Given the description of an element on the screen output the (x, y) to click on. 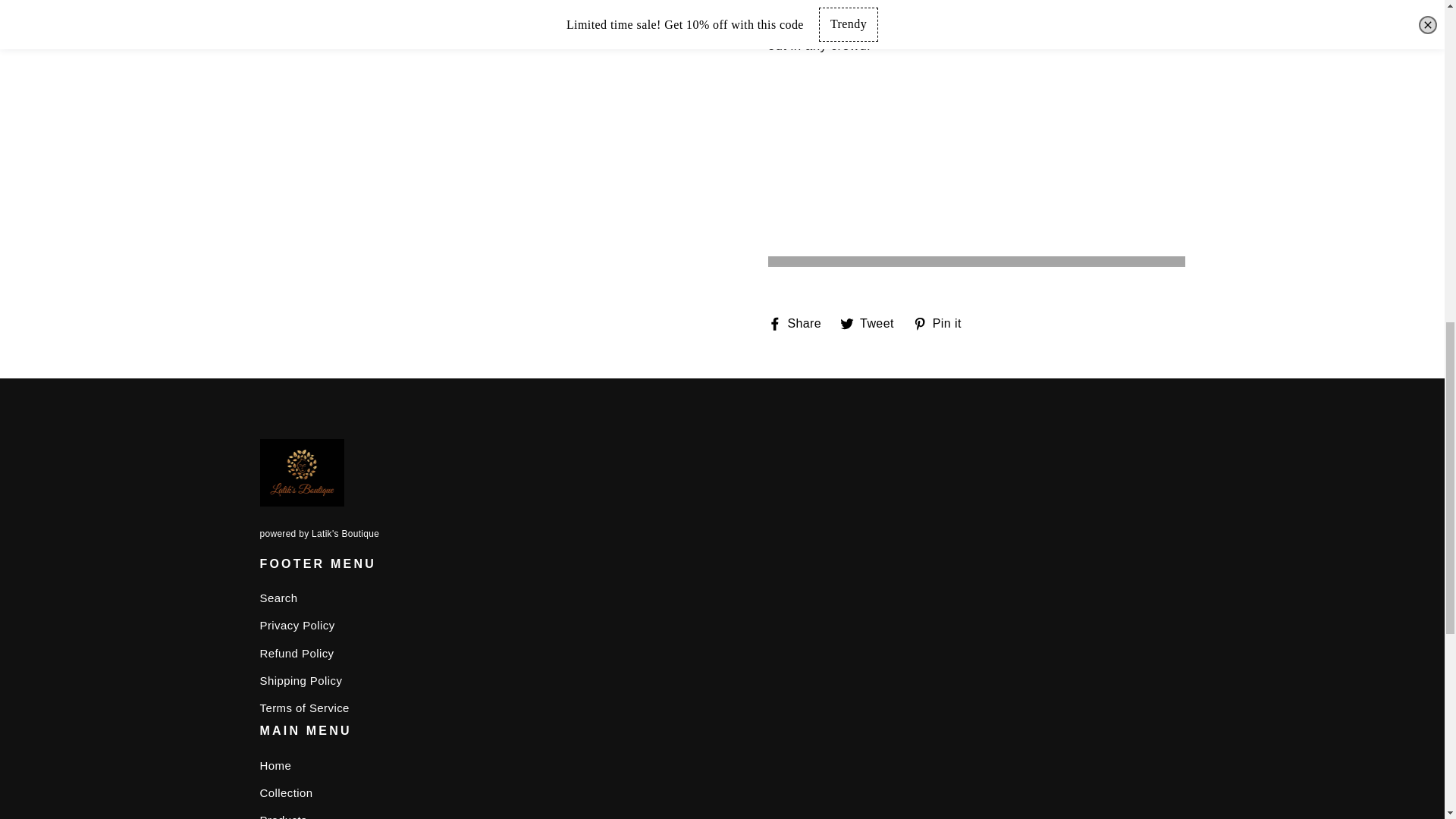
Pin on Pinterest (942, 323)
Tweet on Twitter (872, 323)
Share on Facebook (799, 323)
